Given the description of an element on the screen output the (x, y) to click on. 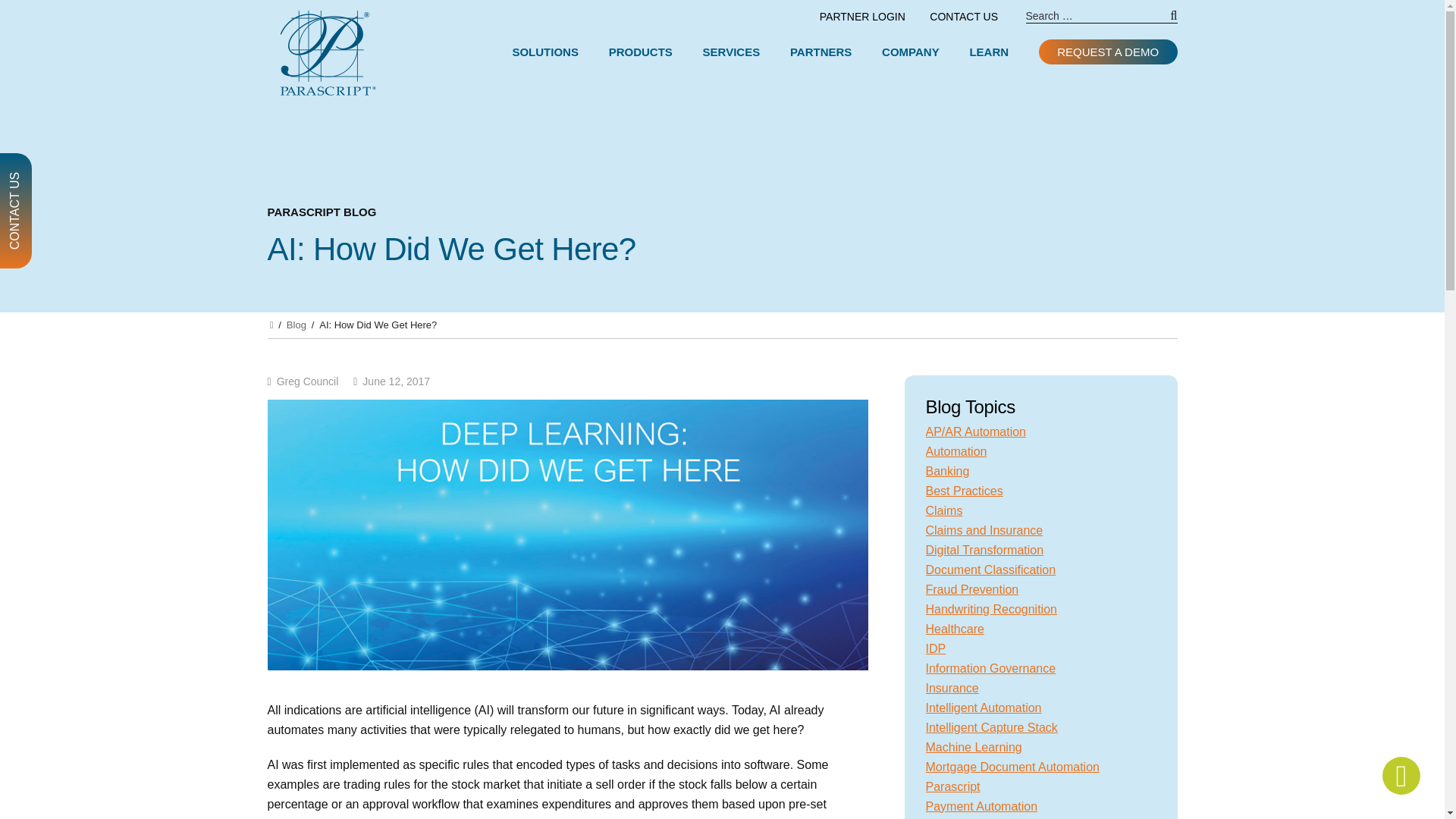
CONTACT US (963, 16)
PARTNER LOGIN (862, 16)
Parascript (327, 58)
Parascript Solutions (547, 51)
Parascript Technology Products (642, 51)
PRODUCTS (642, 51)
Search (1165, 20)
Search (1165, 20)
Search (1165, 20)
Contact Parascript (963, 16)
